Given the description of an element on the screen output the (x, y) to click on. 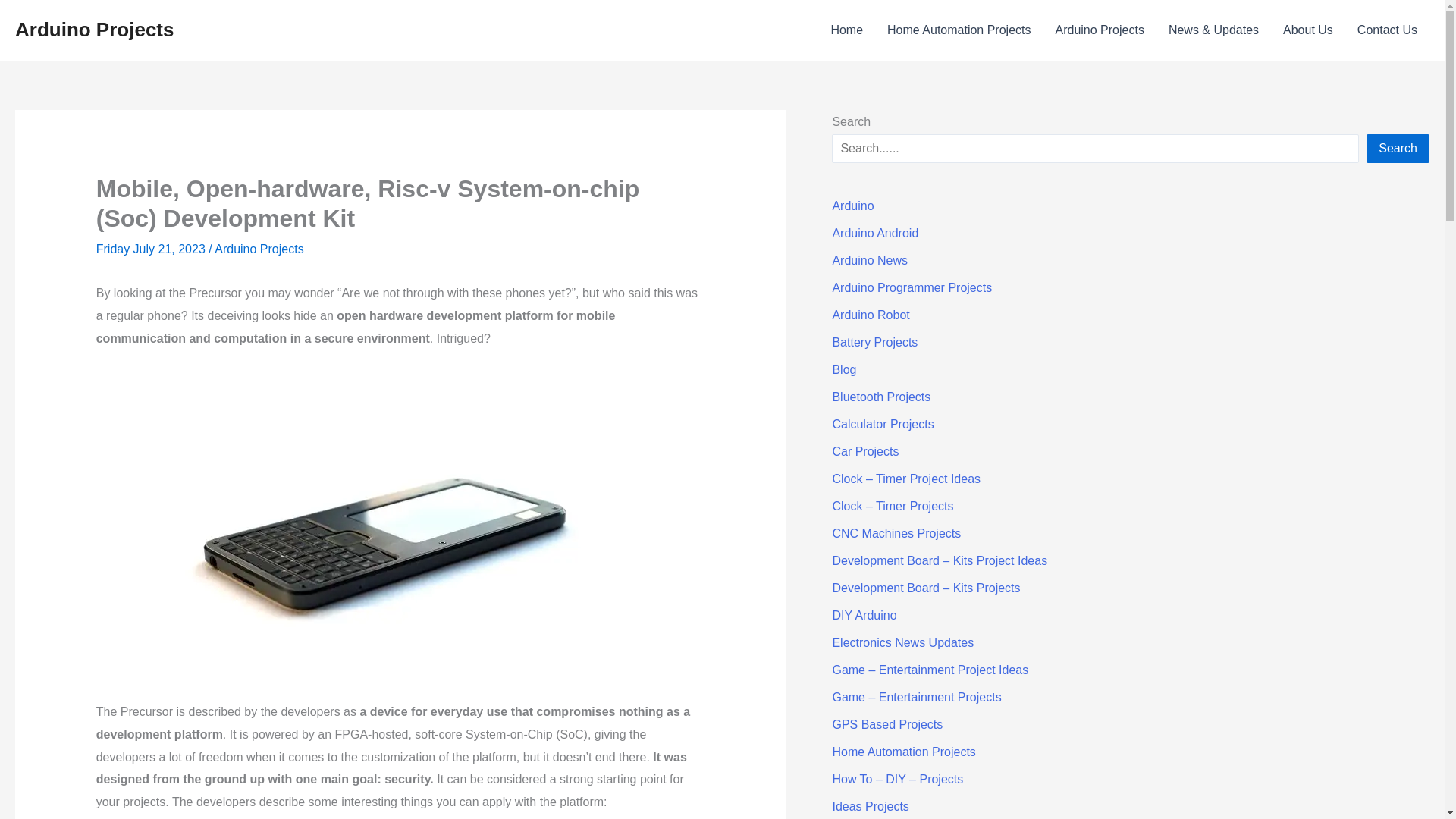
Contact Us (1387, 30)
CNC Machines Projects (895, 533)
Arduino Android (874, 232)
Arduino Projects (1099, 30)
Blog (843, 369)
Battery Projects (874, 341)
Arduino Robot (869, 314)
Arduino News (869, 259)
Car Projects (864, 451)
Arduino Projects (258, 248)
